Given the description of an element on the screen output the (x, y) to click on. 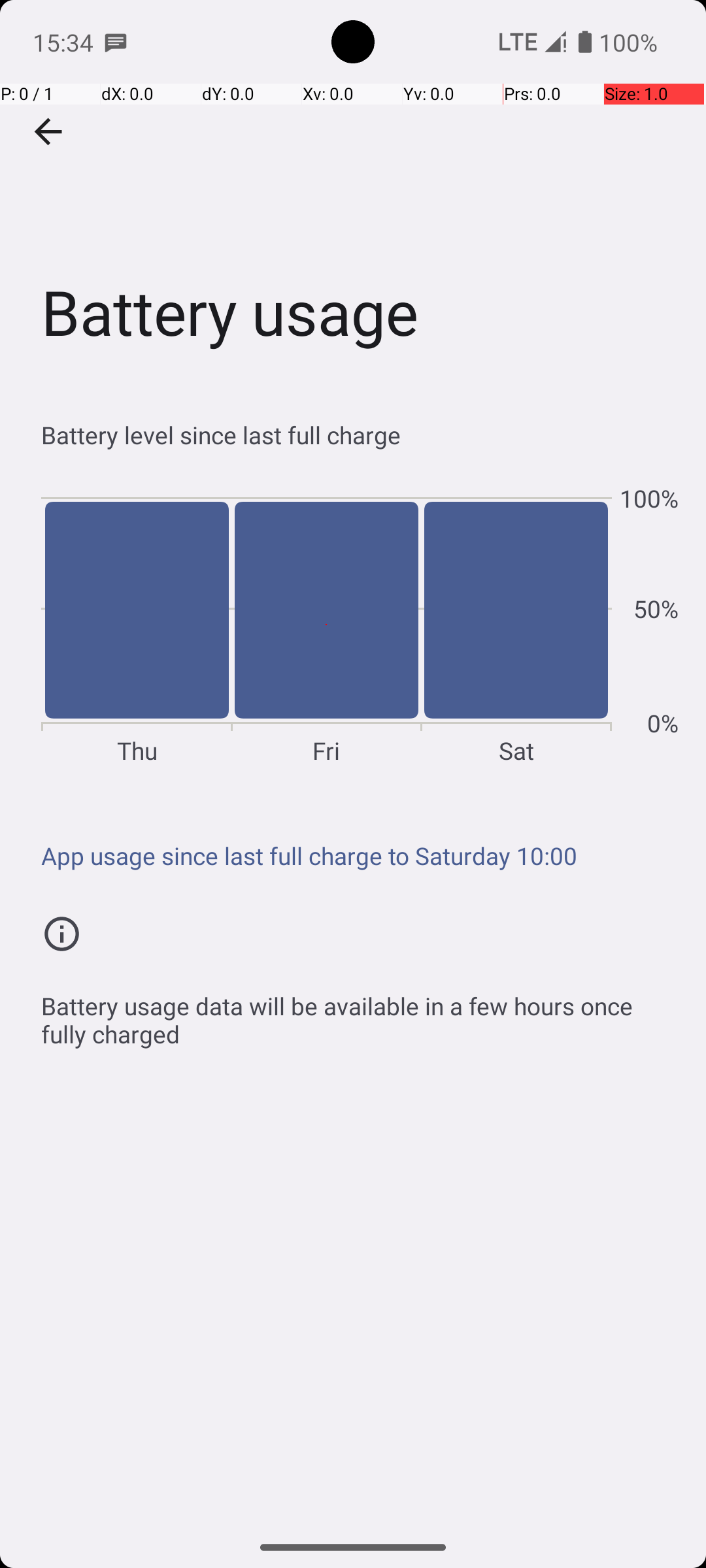
Battery level since last full charge Element type: android.widget.TextView (359, 434)
App usage since last full charge to Saturday 10:00 Element type: android.widget.TextView (359, 855)
Battery usage data will be available in a few hours once fully charged Element type: android.widget.TextView (359, 1012)
Saturday Element type: android.widget.ImageView (515, 624)
